Given the description of an element on the screen output the (x, y) to click on. 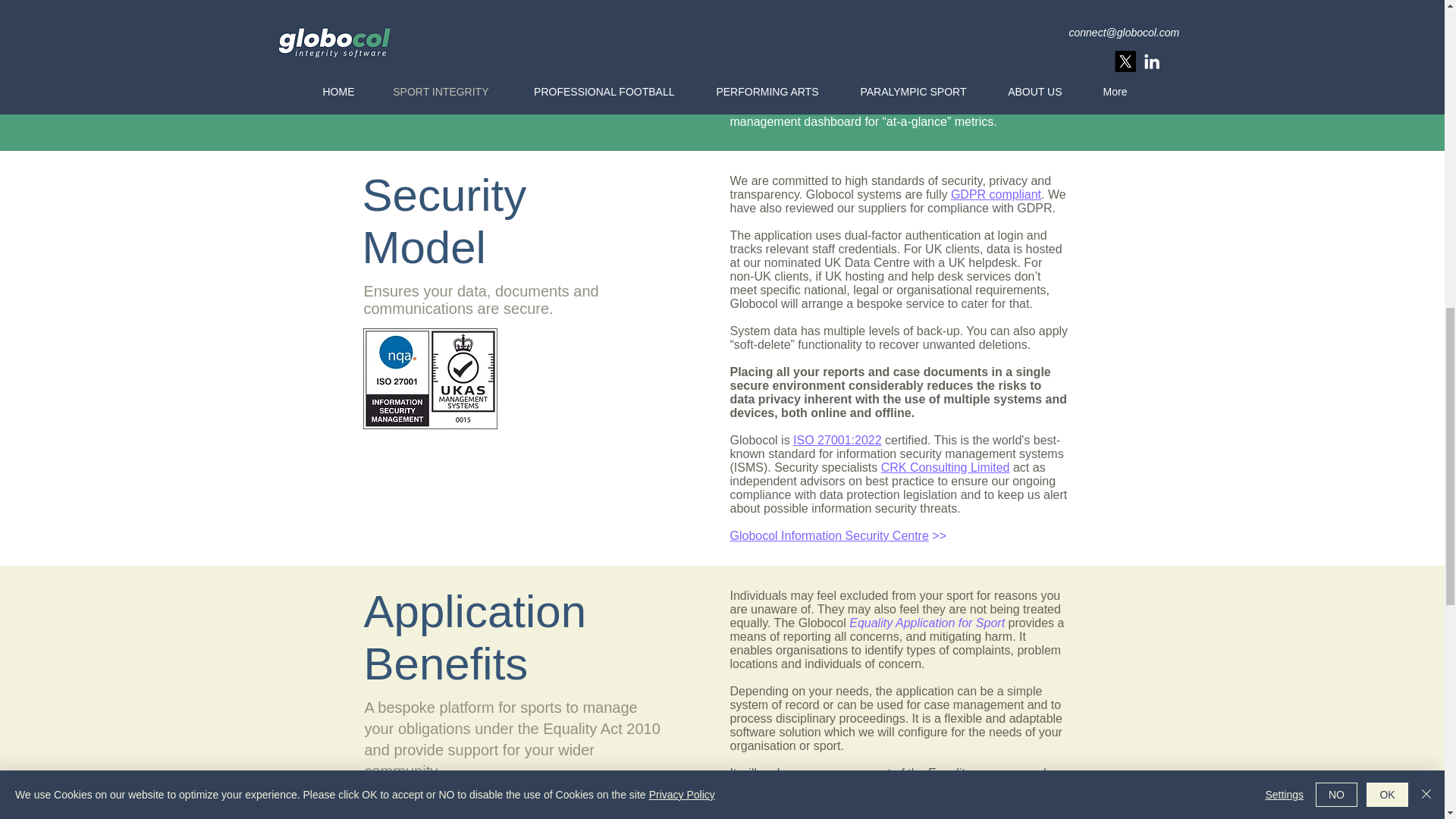
GDPR compliant (995, 194)
ISO 27001:2022 (837, 440)
CRK Consulting Limited (945, 467)
Application Benefits (475, 638)
Ensures your data, documents and communications are secure. (481, 299)
Globocol Information Security Centre (828, 535)
Security Model (444, 221)
